Given the description of an element on the screen output the (x, y) to click on. 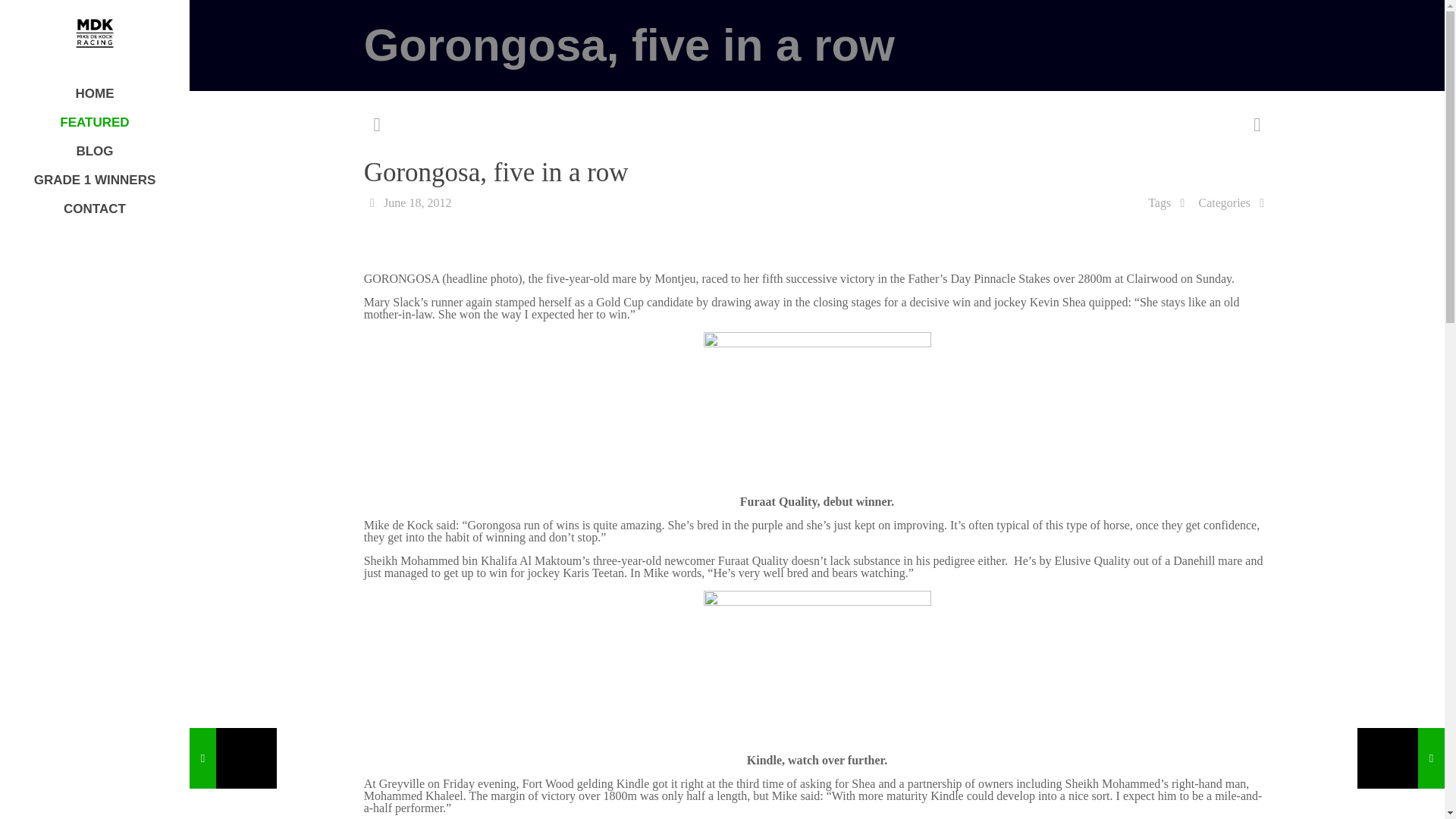
BLOG (94, 151)
FEATURED (94, 122)
kindle (817, 666)
HOME (94, 93)
CONTACT (94, 208)
Mike de Kock Racing (94, 33)
Twitter (93, 798)
furaatclwd (817, 408)
GRADE 1 WINNERS (94, 180)
